Given the description of an element on the screen output the (x, y) to click on. 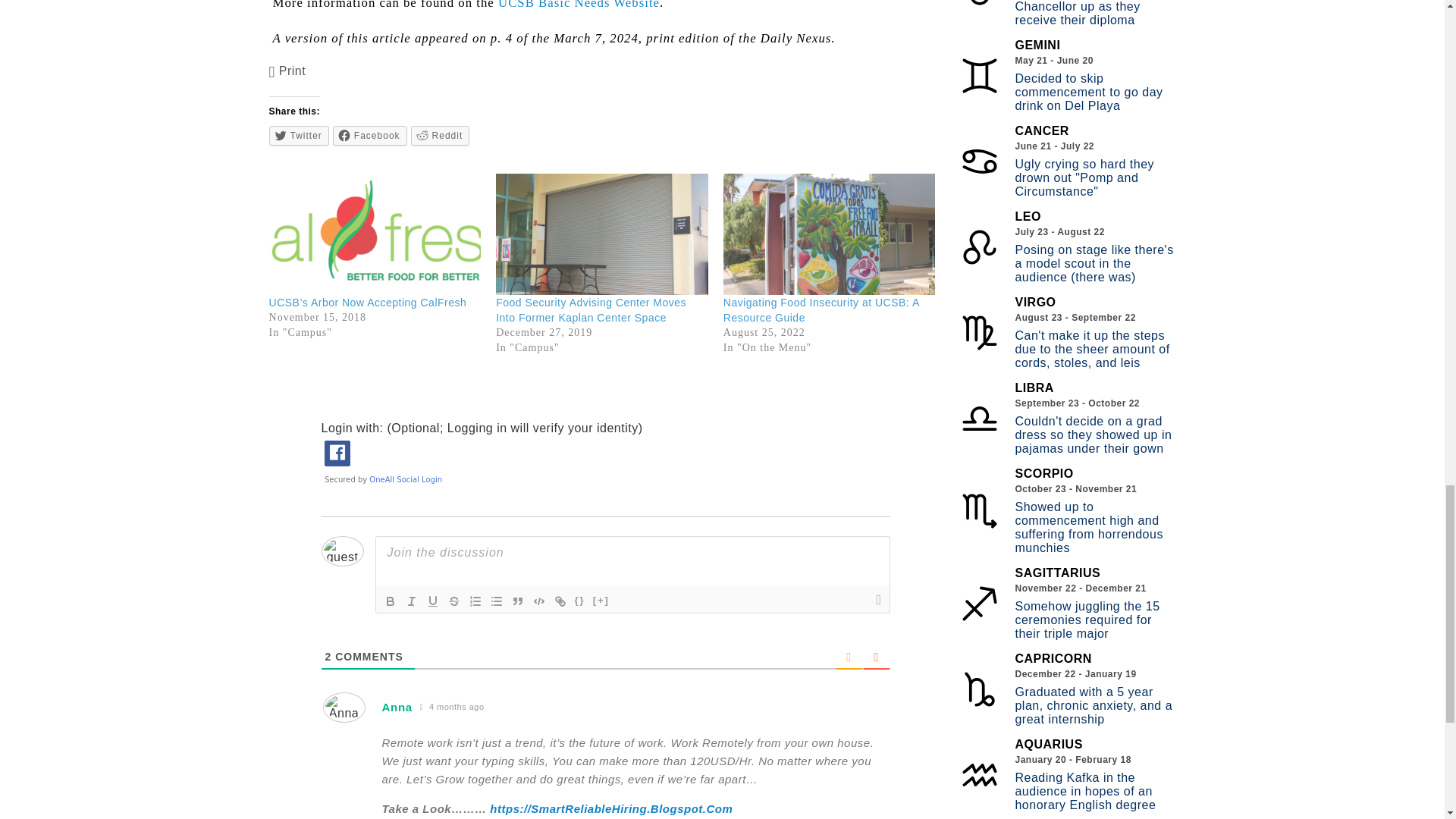
Navigating Food Insecurity at UCSB: A Resource Guide (820, 309)
Strike (454, 601)
Click to share on Facebook (370, 135)
Click to share on Reddit (440, 135)
Bold (390, 601)
Italic (411, 601)
Login with Social Networks (605, 461)
Underline (433, 601)
Click to share on Twitter (299, 135)
Ordered List (475, 601)
Unordered List (496, 601)
